Given the description of an element on the screen output the (x, y) to click on. 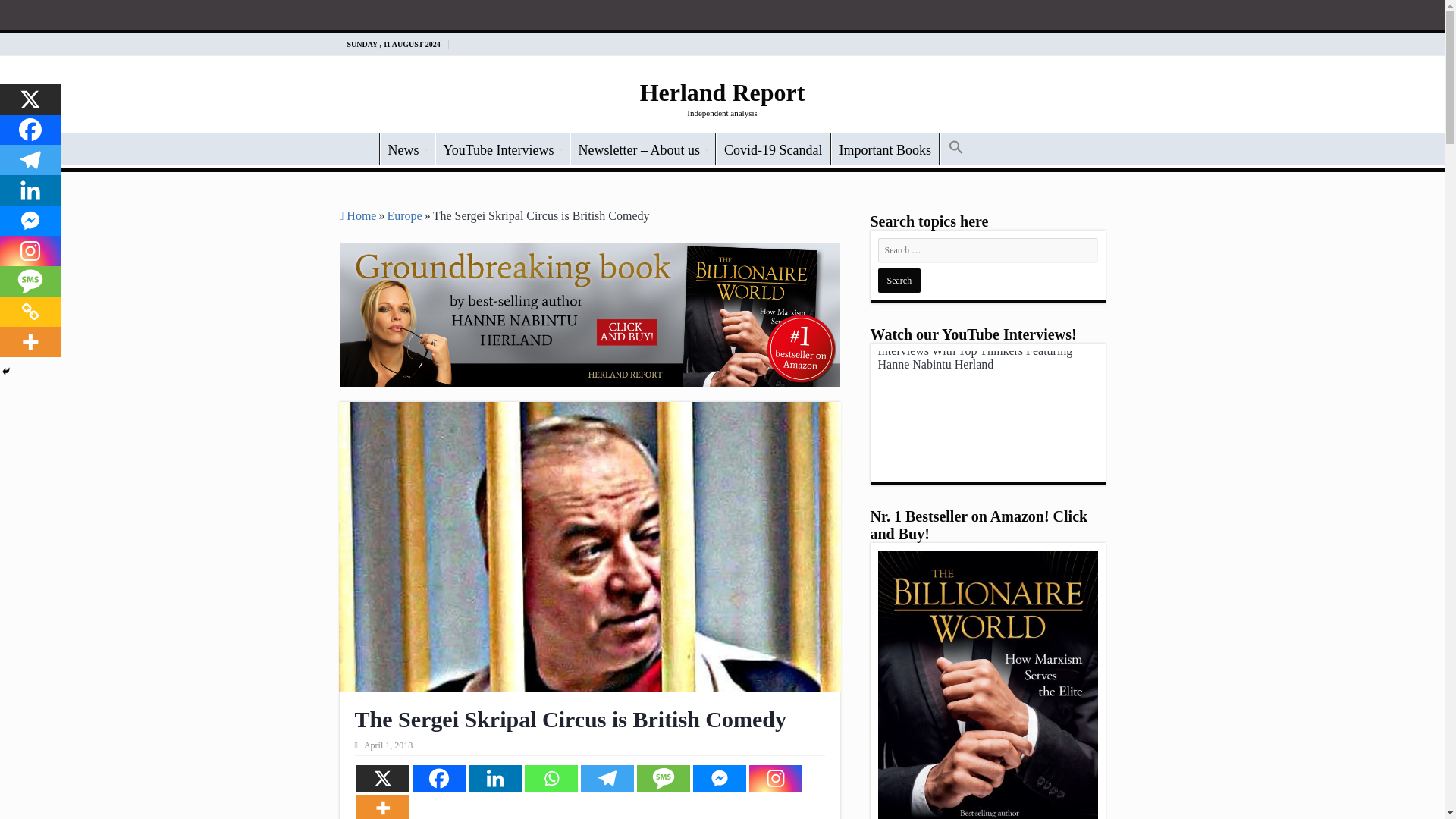
SMS (663, 777)
Telegram (30, 159)
Telegram (606, 777)
Instagram (775, 777)
Linkedin (494, 777)
Europe (404, 215)
X (30, 99)
Facebook (438, 777)
News (405, 148)
